Given the description of an element on the screen output the (x, y) to click on. 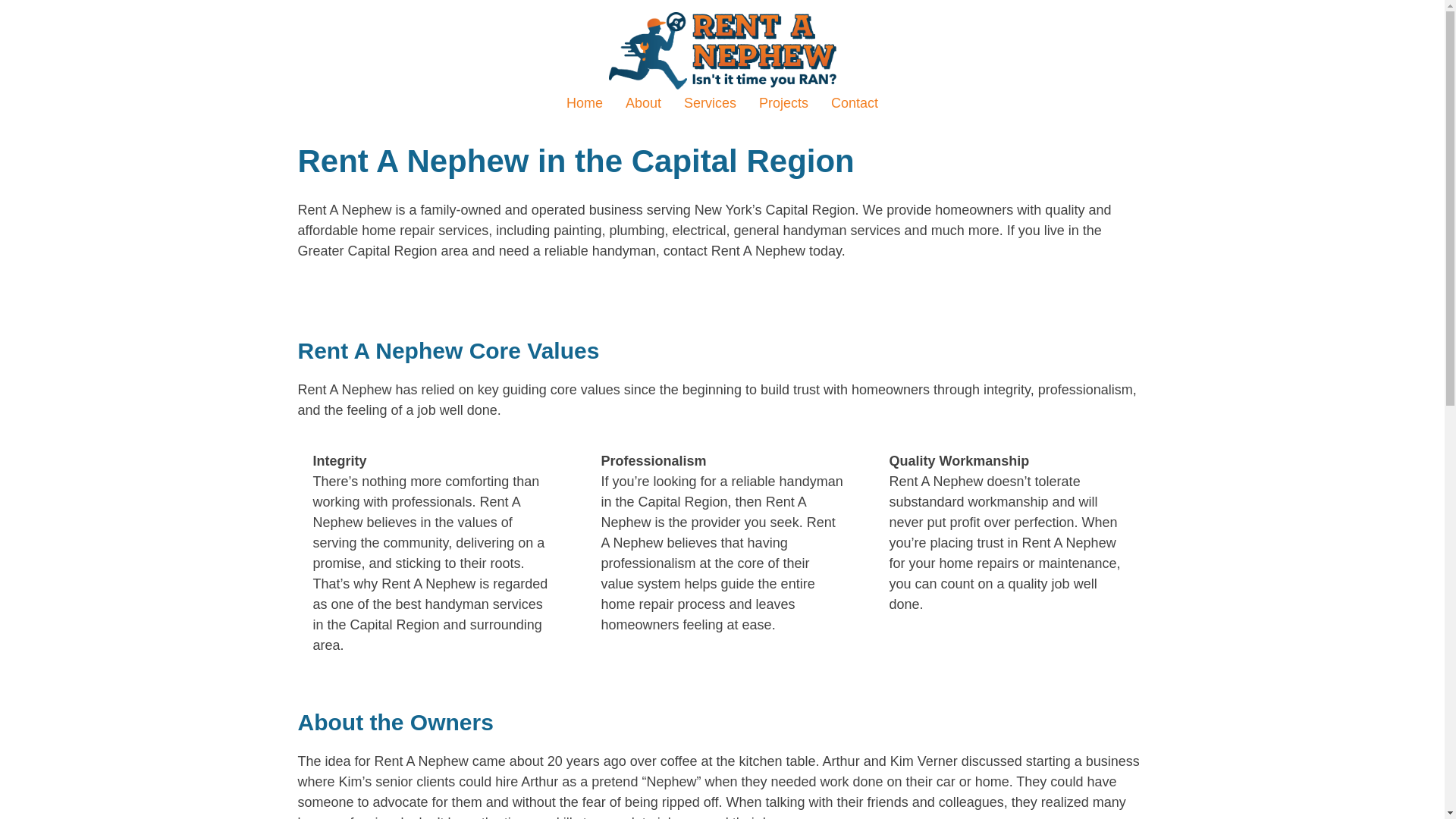
Contact (854, 103)
Services (710, 103)
Projects (783, 103)
Home (584, 103)
About (643, 103)
